Given the description of an element on the screen output the (x, y) to click on. 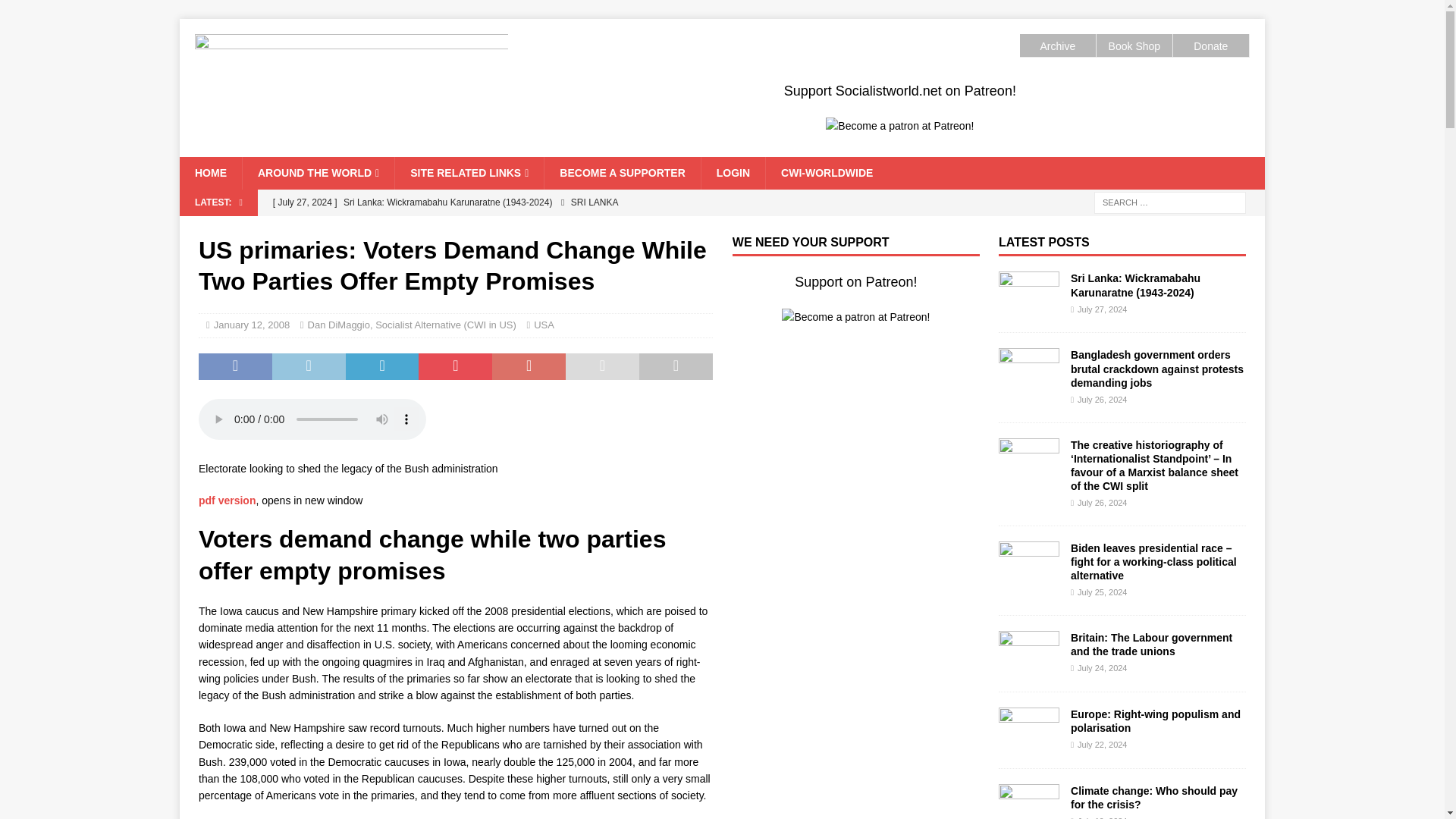
AROUND THE WORLD (317, 173)
Donate (1210, 46)
Archive (1057, 46)
Book Shop (1134, 46)
HOME (210, 173)
